Given the description of an element on the screen output the (x, y) to click on. 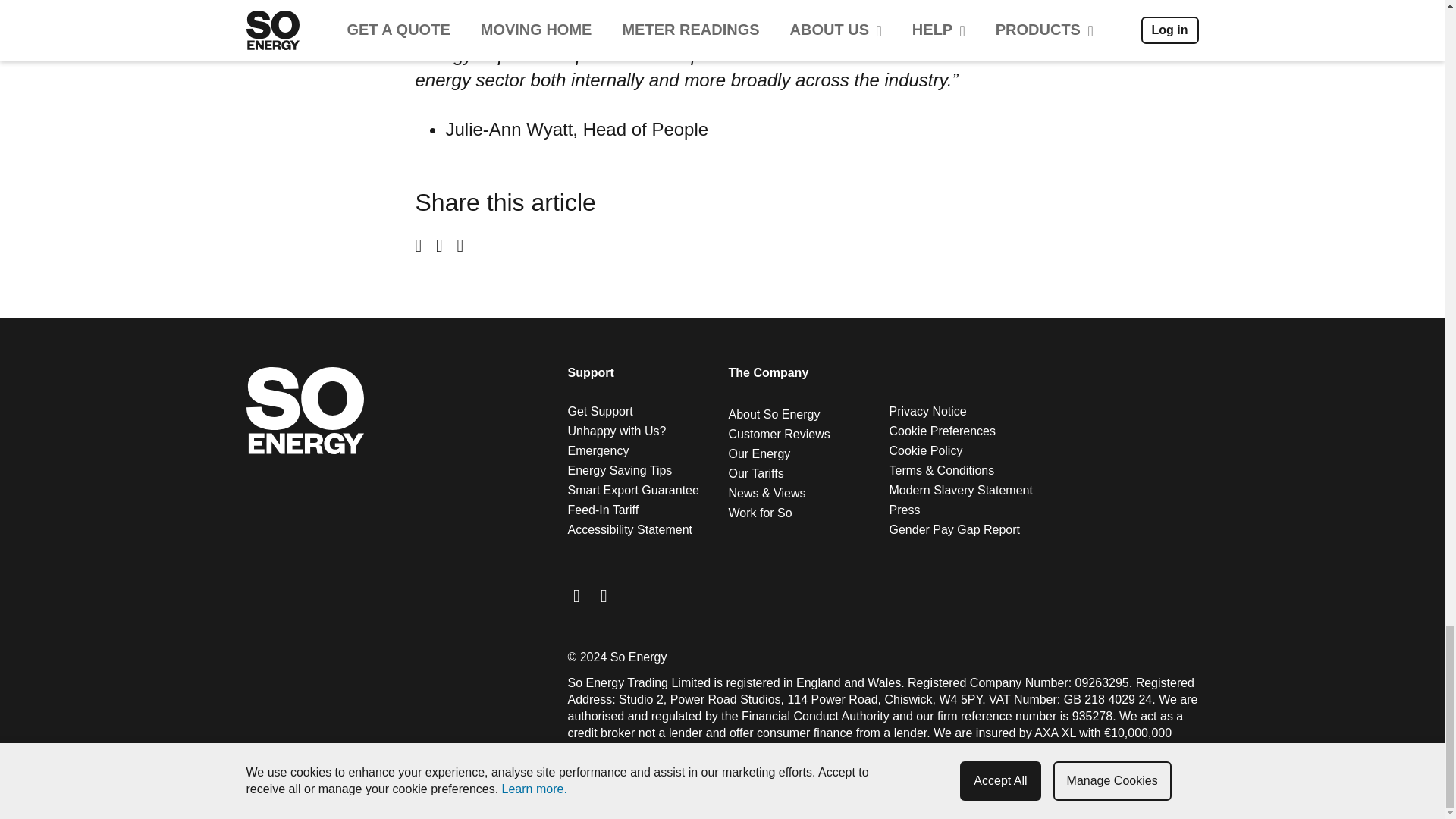
Our Energy (759, 453)
Feed-In Tariff (603, 509)
Unhappy with Us? (616, 431)
So Energy Facebook (576, 596)
So Energy LinkedIn (603, 596)
Accessibility Statement (630, 529)
About So Energy (773, 413)
Emergency (597, 450)
Energy Saving Tips (619, 470)
Smart Export Guarantee (632, 490)
Get Support (599, 410)
Customer Reviews (778, 433)
